Given the description of an element on the screen output the (x, y) to click on. 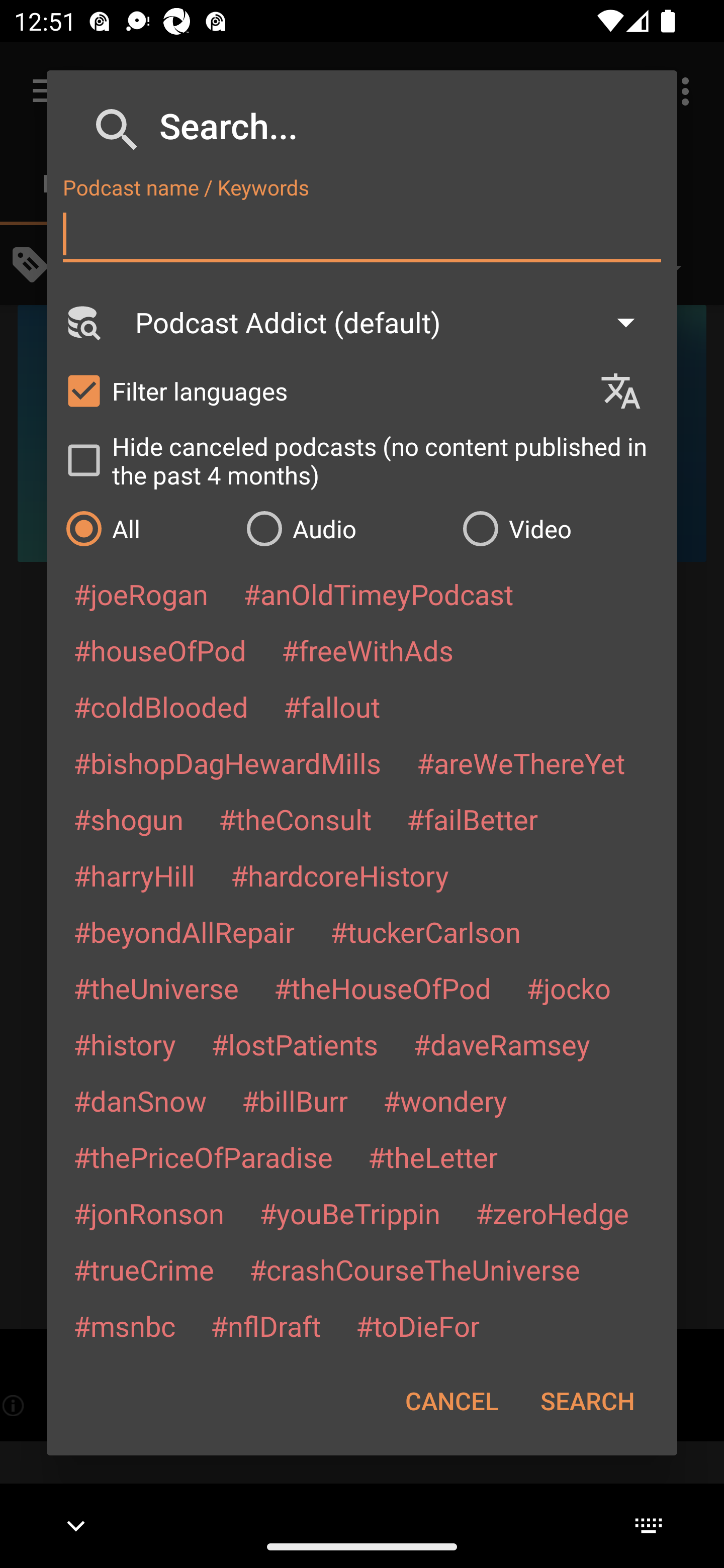
Podcast name / Keywords (361, 234)
Search Engine (82, 322)
Podcast Addict (default) (394, 322)
Languages selection (629, 390)
Filter languages (322, 390)
All (145, 528)
Audio (344, 528)
Video (560, 528)
#joeRogan (140, 594)
#anOldTimeyPodcast (378, 594)
#houseOfPod (159, 650)
#freeWithAds (367, 650)
#coldBlooded (160, 705)
#fallout (331, 705)
#bishopDagHewardMills (227, 762)
#areWeThereYet (521, 762)
#shogun (128, 818)
#theConsult (294, 818)
#failBetter (471, 818)
#harryHill (134, 875)
#hardcoreHistory (339, 875)
#beyondAllRepair (184, 931)
#tuckerCarlson (425, 931)
#theUniverse (155, 987)
#theHouseOfPod (381, 987)
#jocko (568, 987)
#history (124, 1044)
#lostPatients (294, 1044)
#daveRamsey (501, 1044)
#danSnow (139, 1100)
#billBurr (294, 1100)
#wondery (444, 1100)
#thePriceOfParadise (203, 1157)
#theLetter (432, 1157)
#jonRonson (148, 1213)
#youBeTrippin (349, 1213)
#zeroHedge (552, 1213)
#trueCrime (143, 1268)
#crashCourseTheUniverse (414, 1268)
#msnbc (124, 1325)
#nflDraft (265, 1325)
#toDieFor (417, 1325)
CANCEL (451, 1400)
SEARCH (587, 1400)
